Given the description of an element on the screen output the (x, y) to click on. 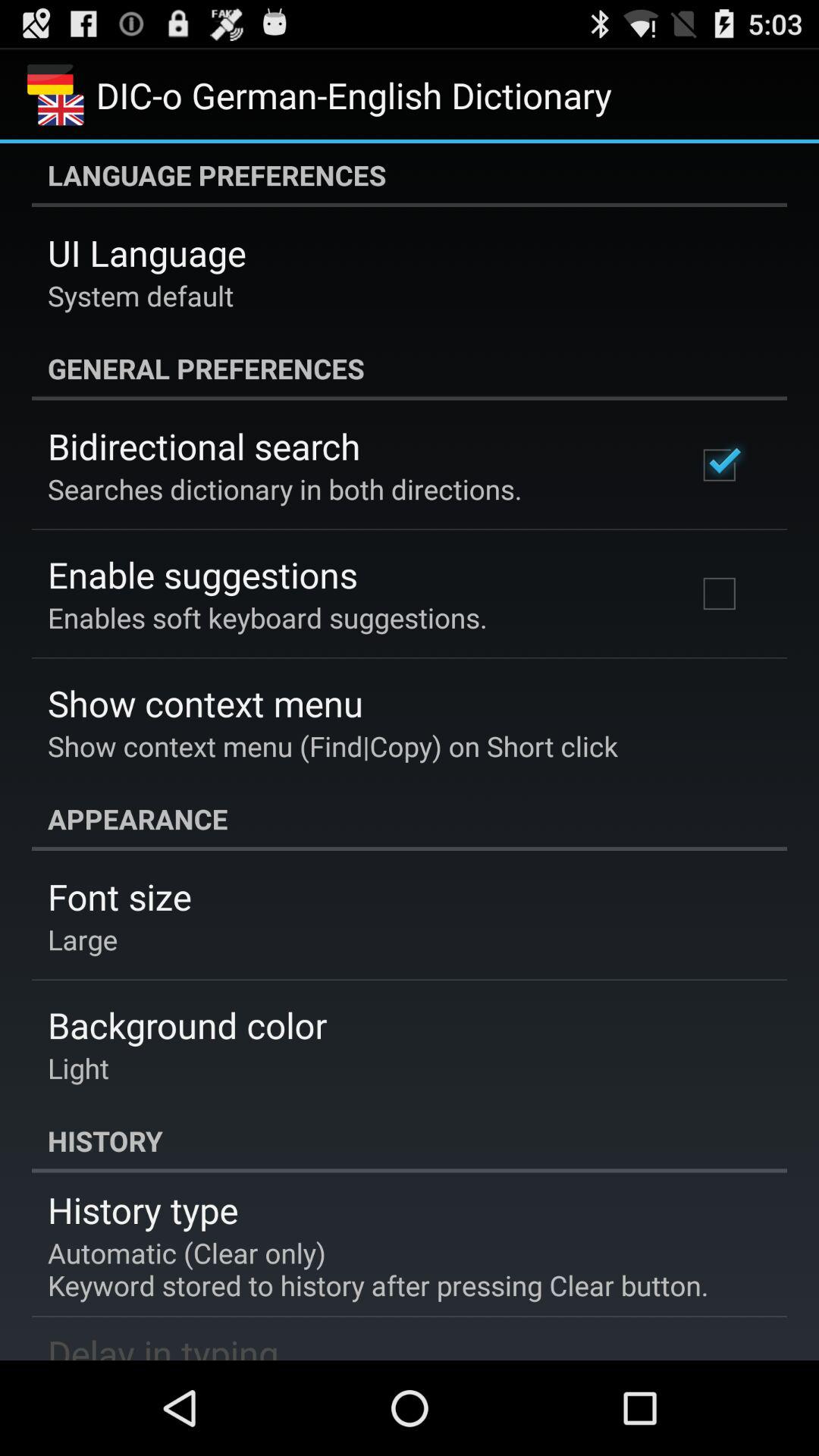
launch the item below language preferences app (146, 252)
